Given the description of an element on the screen output the (x, y) to click on. 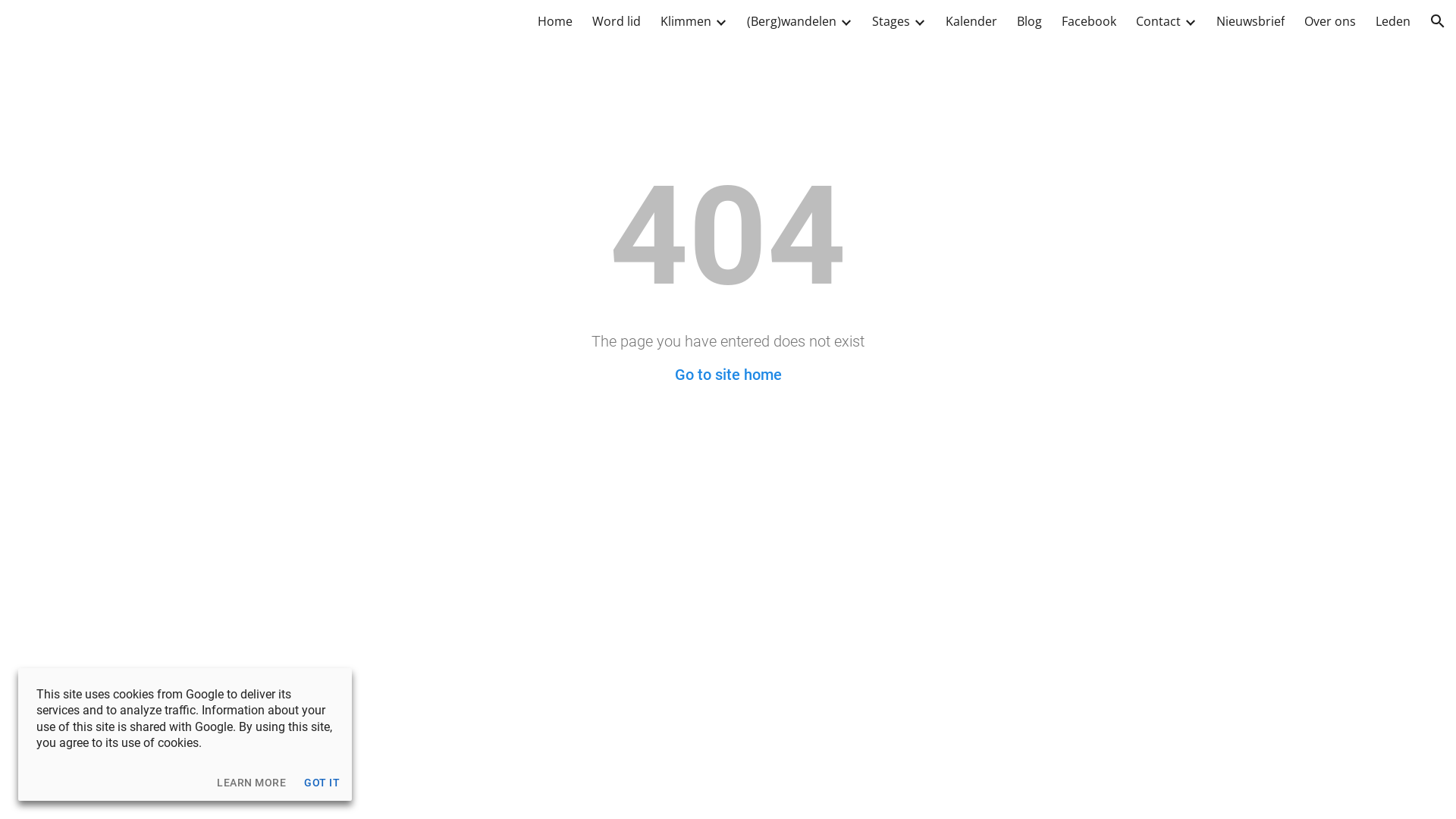
Nieuwsbrief Element type: text (1250, 20)
(Berg)wandelen Element type: text (791, 20)
Kalender Element type: text (971, 20)
Home Element type: text (554, 20)
Expand/Collapse Element type: hover (1189, 20)
Expand/Collapse Element type: hover (845, 20)
Stages Element type: text (891, 20)
Expand/Collapse Element type: hover (720, 20)
Leden Element type: text (1392, 20)
Facebook Element type: text (1088, 20)
Word lid Element type: text (616, 20)
Go to site home Element type: text (727, 374)
Blog Element type: text (1028, 20)
Klimmen Element type: text (685, 20)
LEARN MORE Element type: text (250, 781)
Over ons Element type: text (1329, 20)
Contact Element type: text (1157, 20)
Expand/Collapse Element type: hover (918, 20)
